Given the description of an element on the screen output the (x, y) to click on. 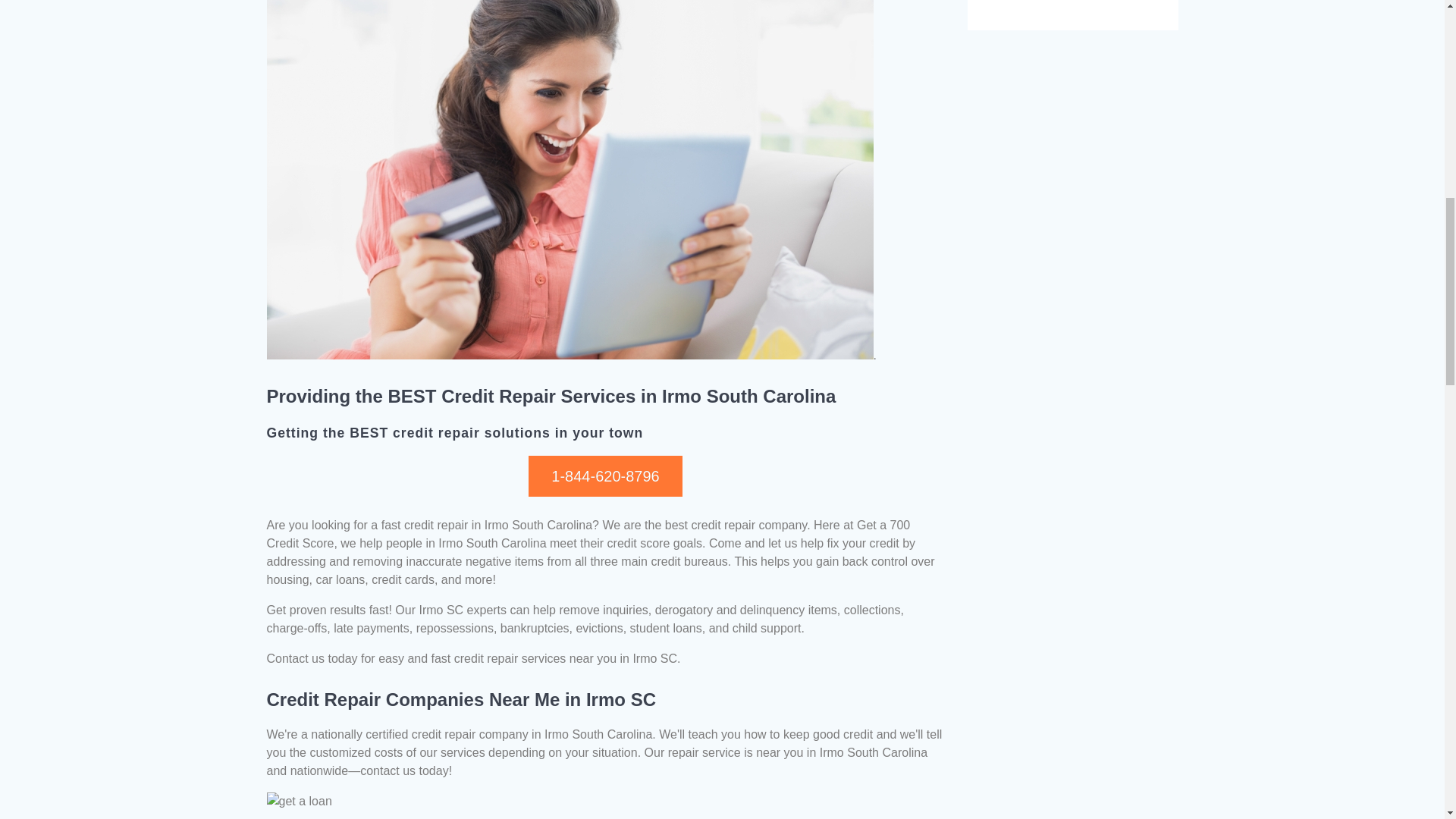
1-844-620-8796 (604, 475)
